Given the description of an element on the screen output the (x, y) to click on. 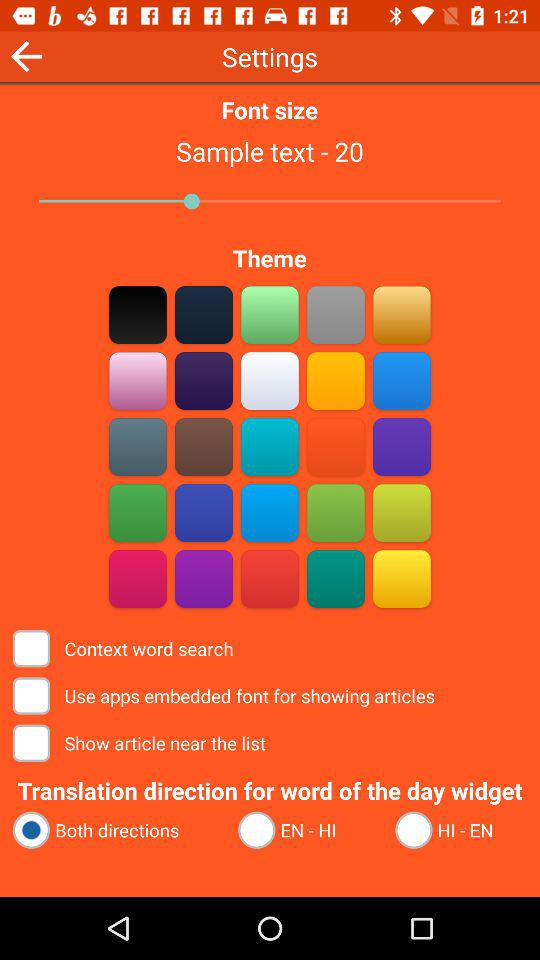
orange square button color theme option (335, 446)
